Given the description of an element on the screen output the (x, y) to click on. 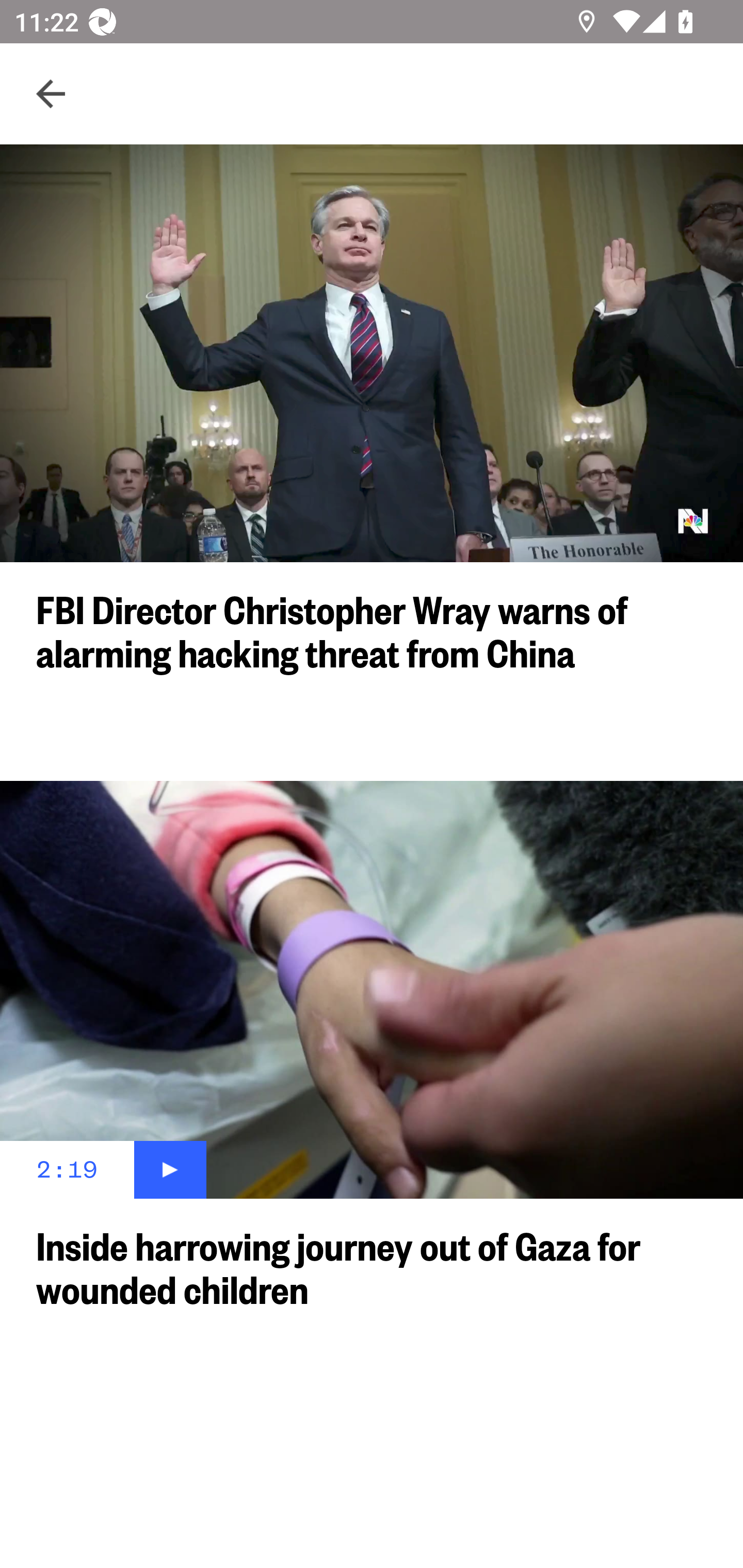
Navigate up (50, 93)
